Given the description of an element on the screen output the (x, y) to click on. 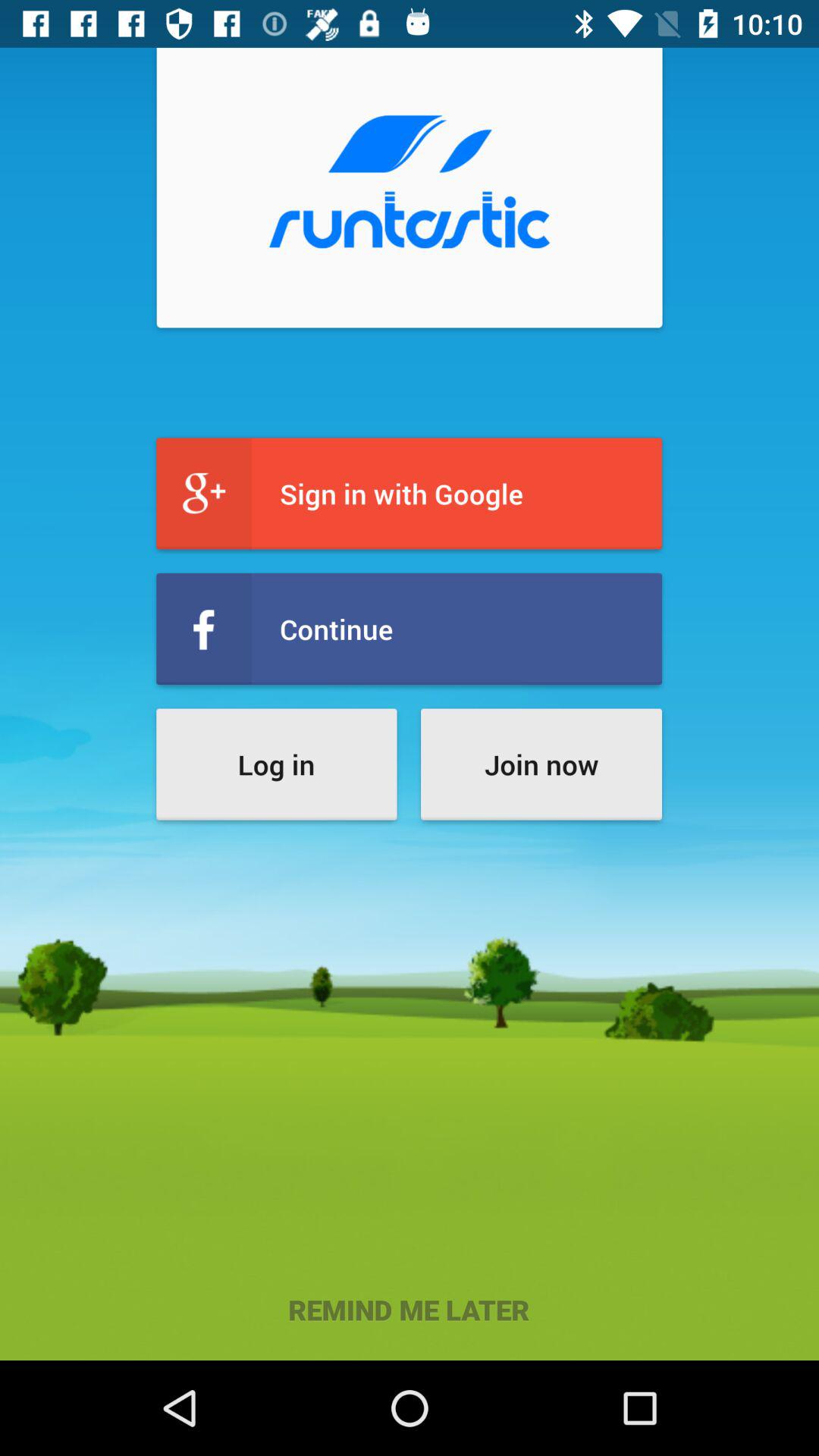
scroll to the join now (541, 764)
